Given the description of an element on the screen output the (x, y) to click on. 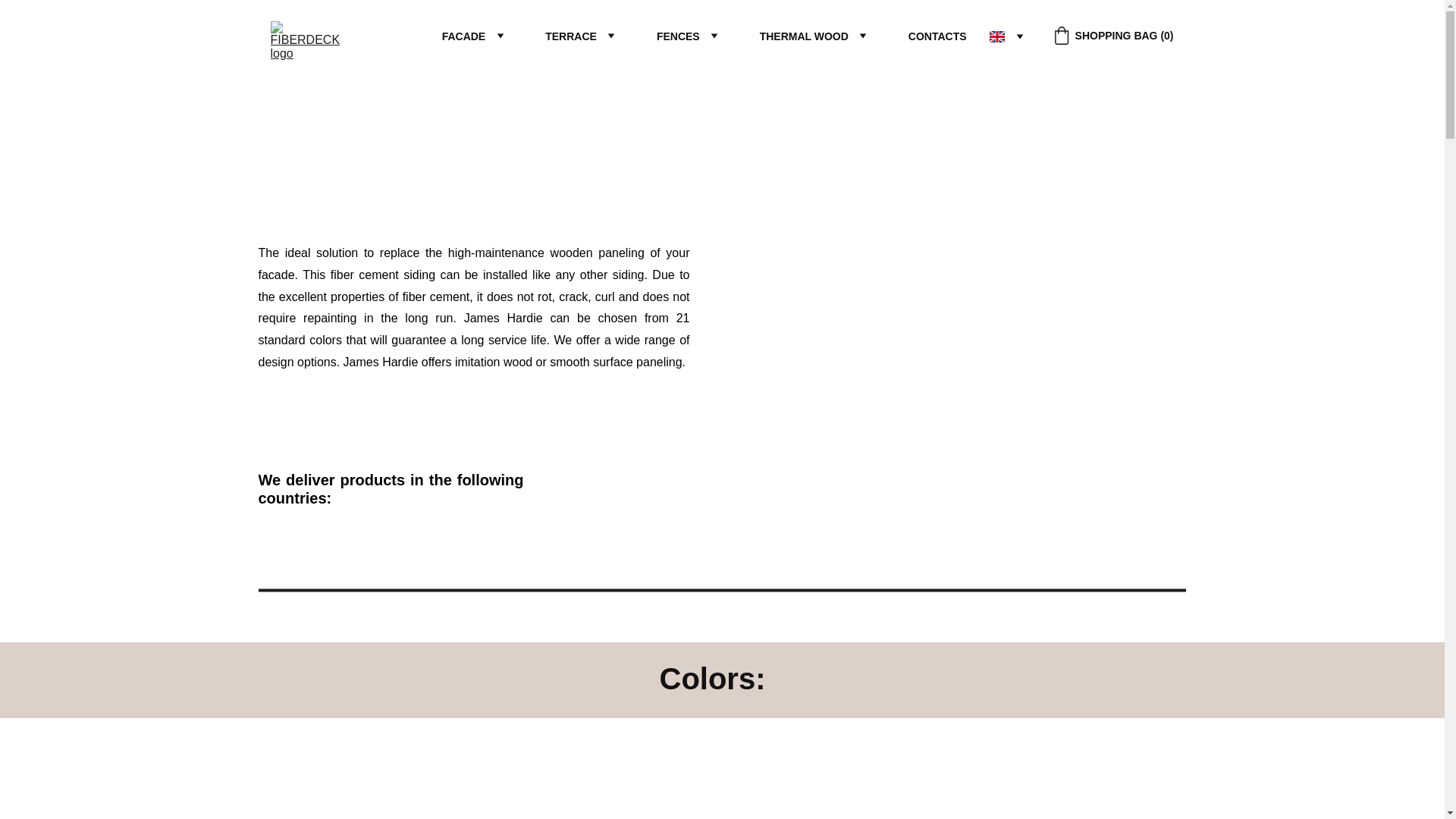
TERRACE (570, 36)
CONTACTS (937, 36)
FACADE (464, 36)
THERMAL WOOD (804, 36)
FENCES (678, 36)
Go to cart (1112, 35)
